Given the description of an element on the screen output the (x, y) to click on. 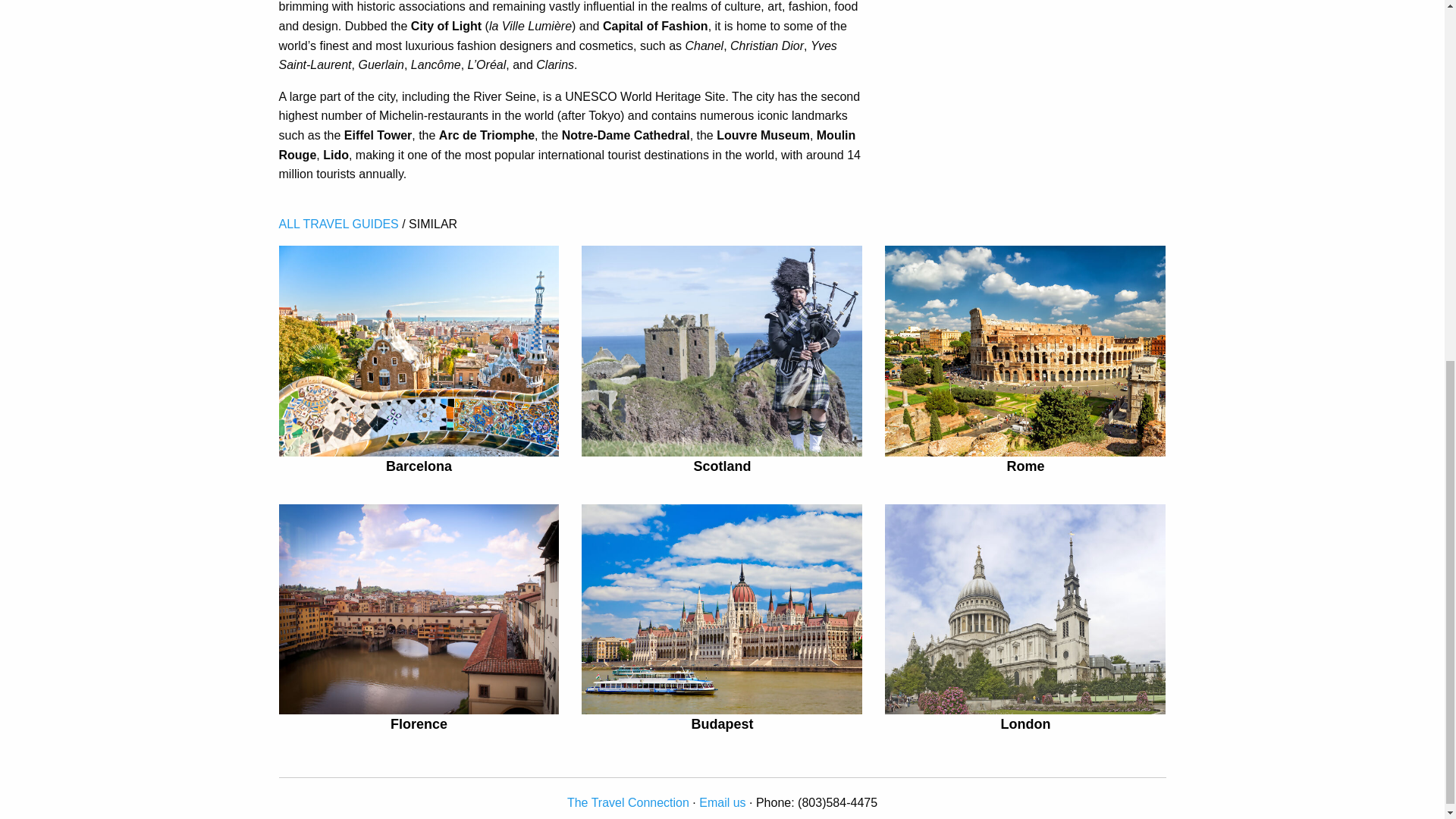
London (1024, 724)
Florence (418, 724)
Budapest (721, 724)
Barcelona (418, 466)
The Travel Connection (627, 802)
ALL TRAVEL GUIDES (338, 223)
Rome (1024, 466)
Scotland (722, 466)
Email us (721, 802)
